Given the description of an element on the screen output the (x, y) to click on. 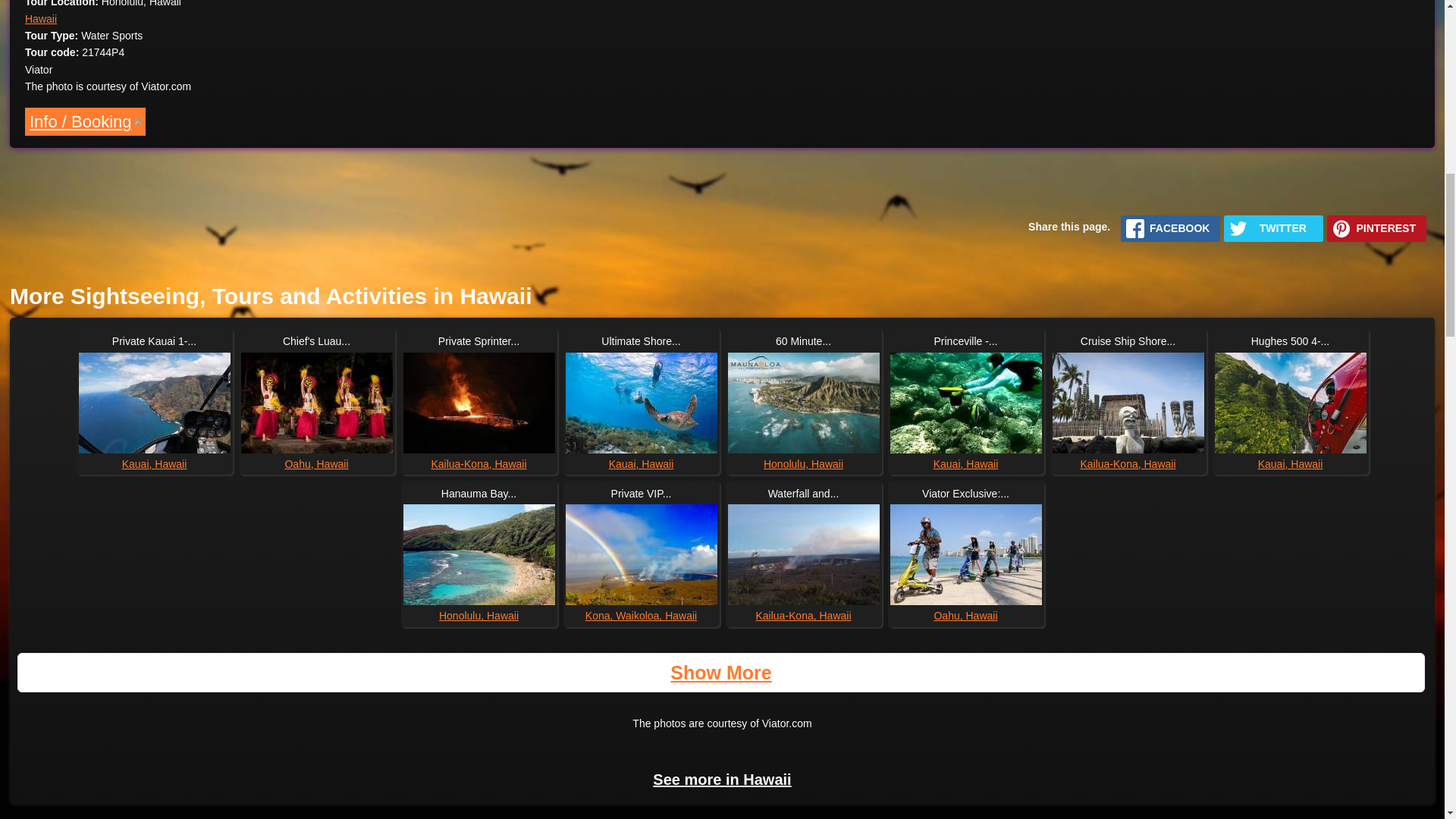
Kauai, Hawaii (965, 463)
Show More (721, 672)
Private VIP Adventure from Kona or Waikoloa (641, 554)
See more in Hawaii (721, 779)
Kauai, Hawaii (1290, 463)
TWITTER (1273, 228)
Kauai, Hawaii (154, 463)
PINTEREST (1376, 228)
Hughes 500 4-Passenger Doors-Off Helicopters (1290, 402)
Oahu, Hawaii (315, 463)
Kauai, Hawaii (641, 463)
Honolulu, Hawaii (802, 463)
Kailua-Kona, Hawaii (1127, 463)
Oahu, Hawaii (965, 615)
Honolulu, Hawaii (478, 615)
